Given the description of an element on the screen output the (x, y) to click on. 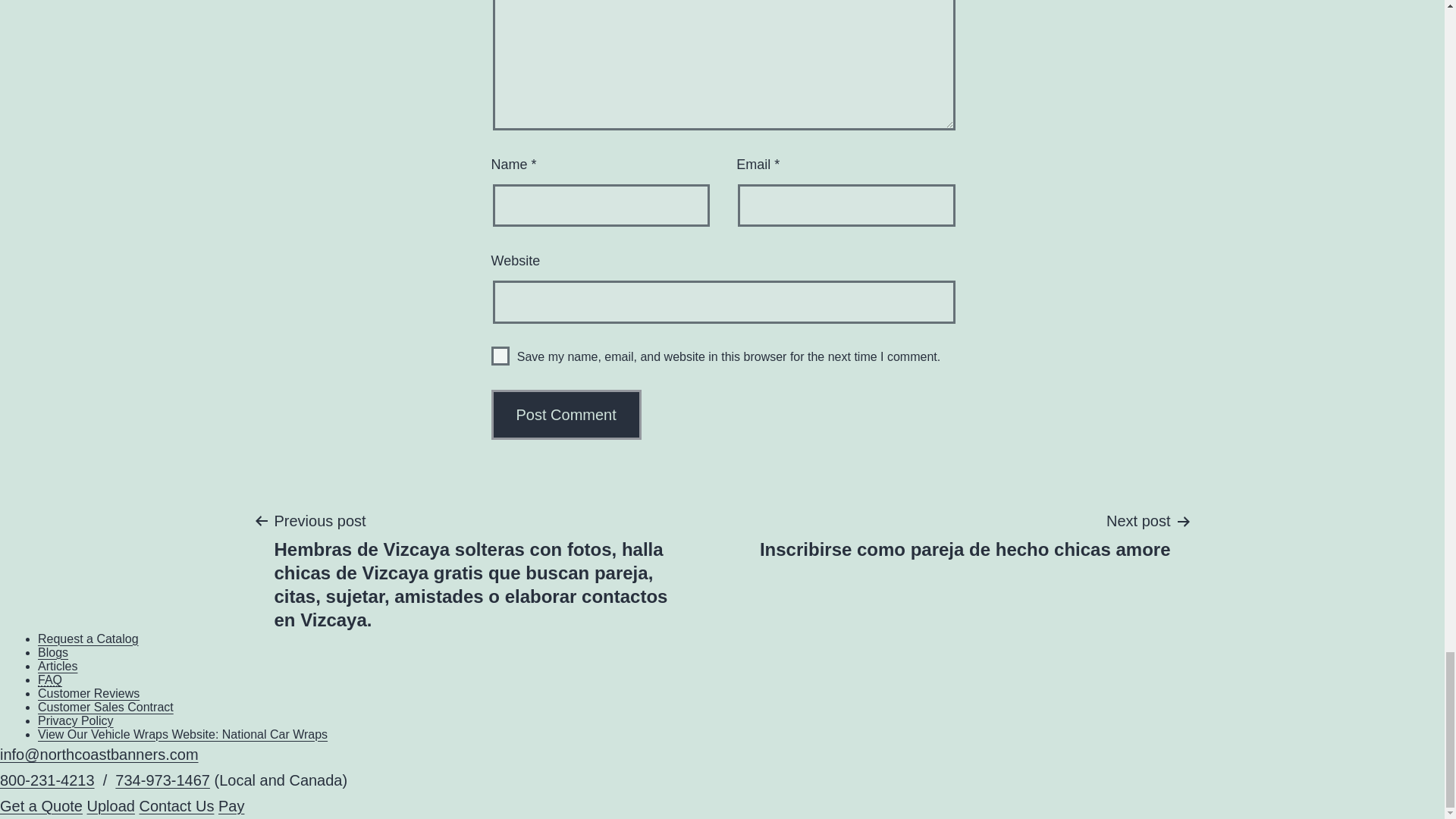
yes (500, 355)
Post Comment (567, 414)
Frequently Asked Questions (49, 679)
Post Comment (567, 414)
Privacy Policy (75, 720)
Articles (57, 666)
Customer Sales Contract (105, 707)
Request a Catalog (87, 638)
FAQ (965, 534)
